Given the description of an element on the screen output the (x, y) to click on. 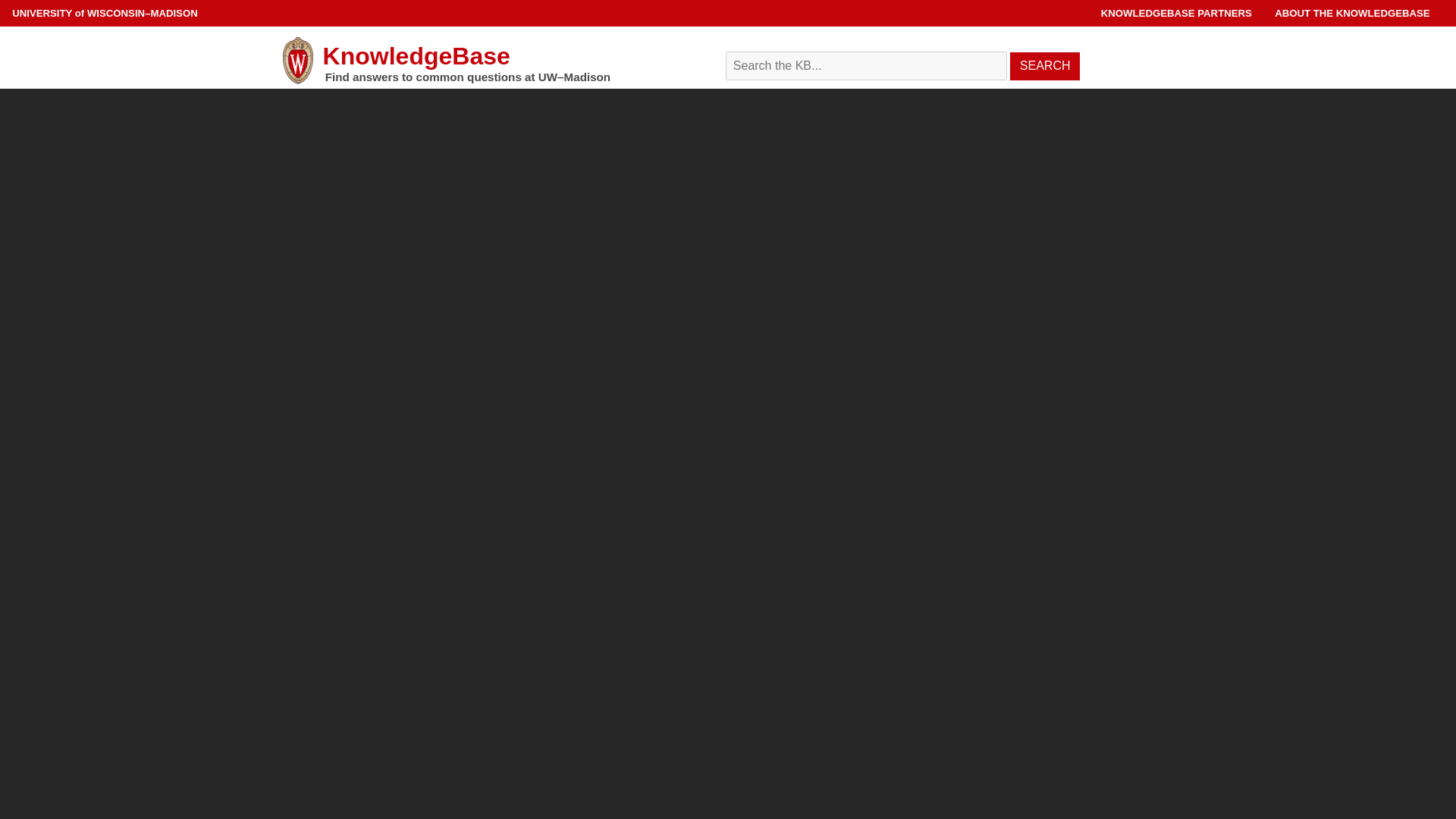
Search (947, 56)
SEARCH (1045, 66)
ABOUT THE KNOWLEDGEBASE (1352, 12)
SEARCH (1045, 66)
KNOWLEDGEBASE PARTNERS (1176, 12)
SEARCH (1045, 66)
KnowledgeBase (493, 60)
